Given the description of an element on the screen output the (x, y) to click on. 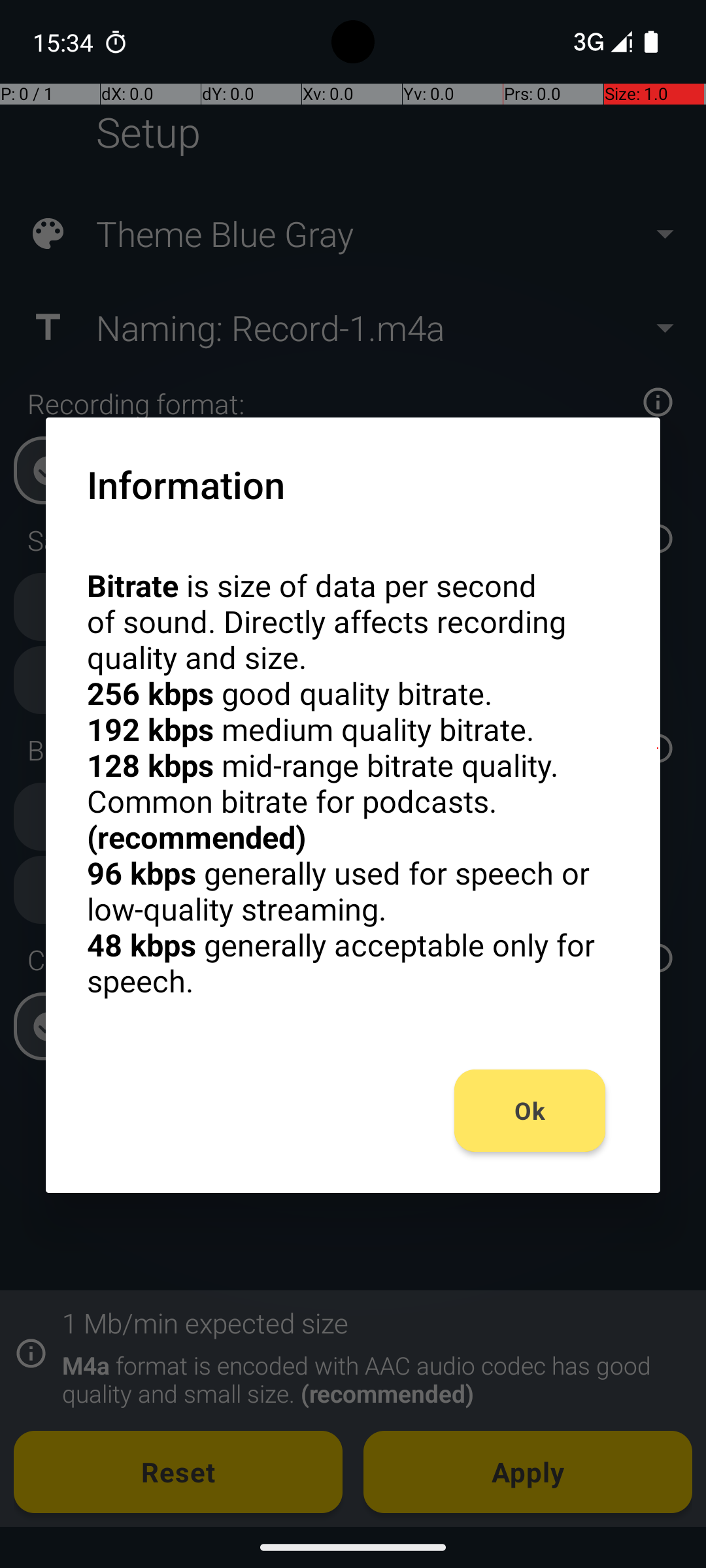
Bitrate is size of data per second of sound. Directly affects recording quality and size. 
256 kbps good quality bitrate. 
192 kbps medium quality bitrate. 
128 kbps mid-range bitrate quality. Common bitrate for podcasts. (recommended) 
96 kbps generally used for speech or low-quality streaming. 
48 kbps generally acceptable only for speech.  Element type: android.widget.TextView (352, 782)
